Given the description of an element on the screen output the (x, y) to click on. 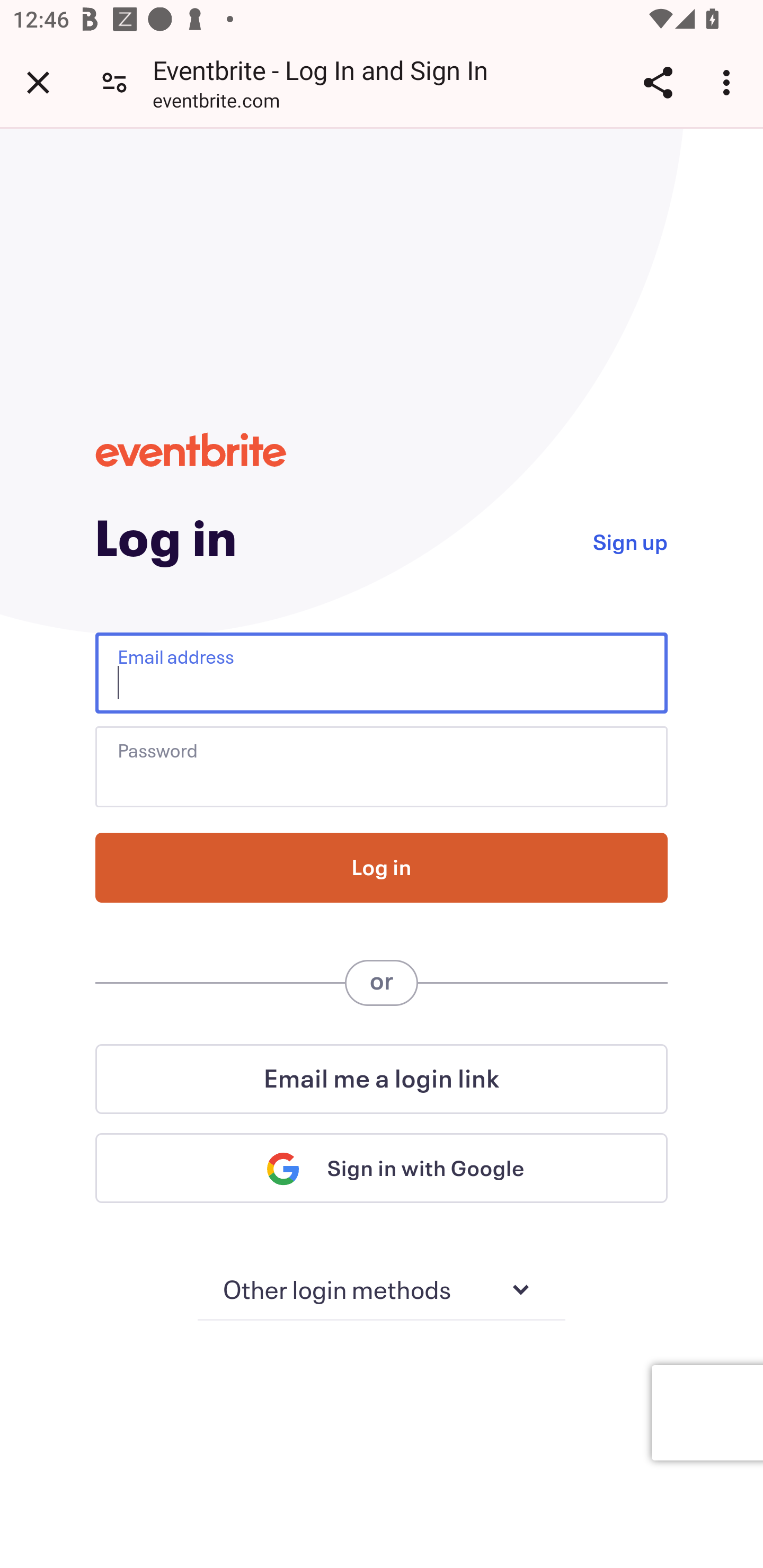
Close tab (38, 82)
Share (657, 82)
Customize and control Google Chrome (729, 82)
Connection is secure (114, 81)
eventbrite.com (216, 103)
www.eventbrite (190, 449)
Sign up (629, 540)
Log in (381, 867)
Email me a login link (381, 1078)
Other login methods Toggle Content (381, 1290)
